Given the description of an element on the screen output the (x, y) to click on. 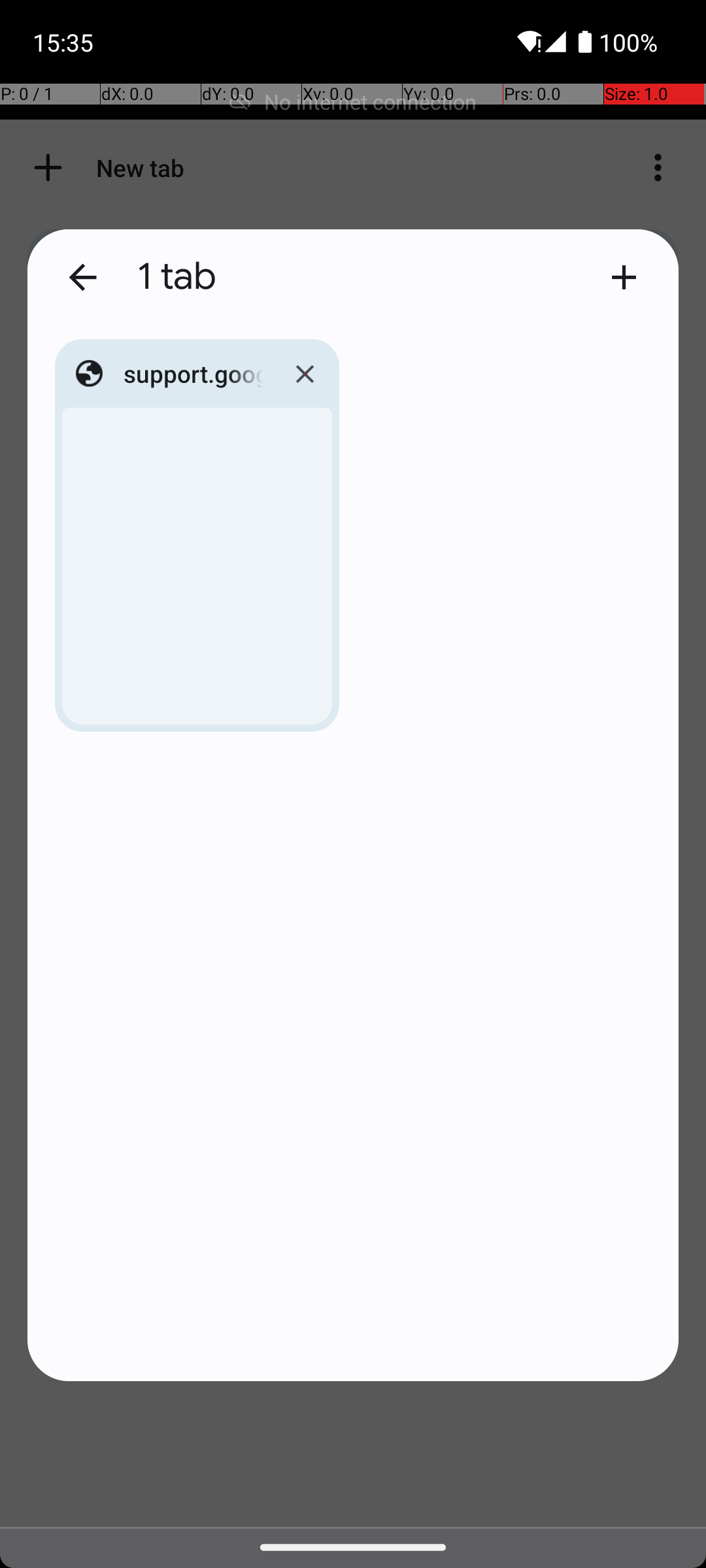
Tab group expanded Element type: android.widget.RelativeLayout (352, 805)
Hide fullscreen grid Element type: android.widget.ImageView (82, 276)
1 tab Element type: android.widget.EditText (359, 277)
Add new tab to group Element type: android.widget.ImageView (623, 276)
support.google.com Element type: android.widget.TextView (193, 373)
Close support.google.com tab Element type: android.widget.ImageView (304, 373)
